Given the description of an element on the screen output the (x, y) to click on. 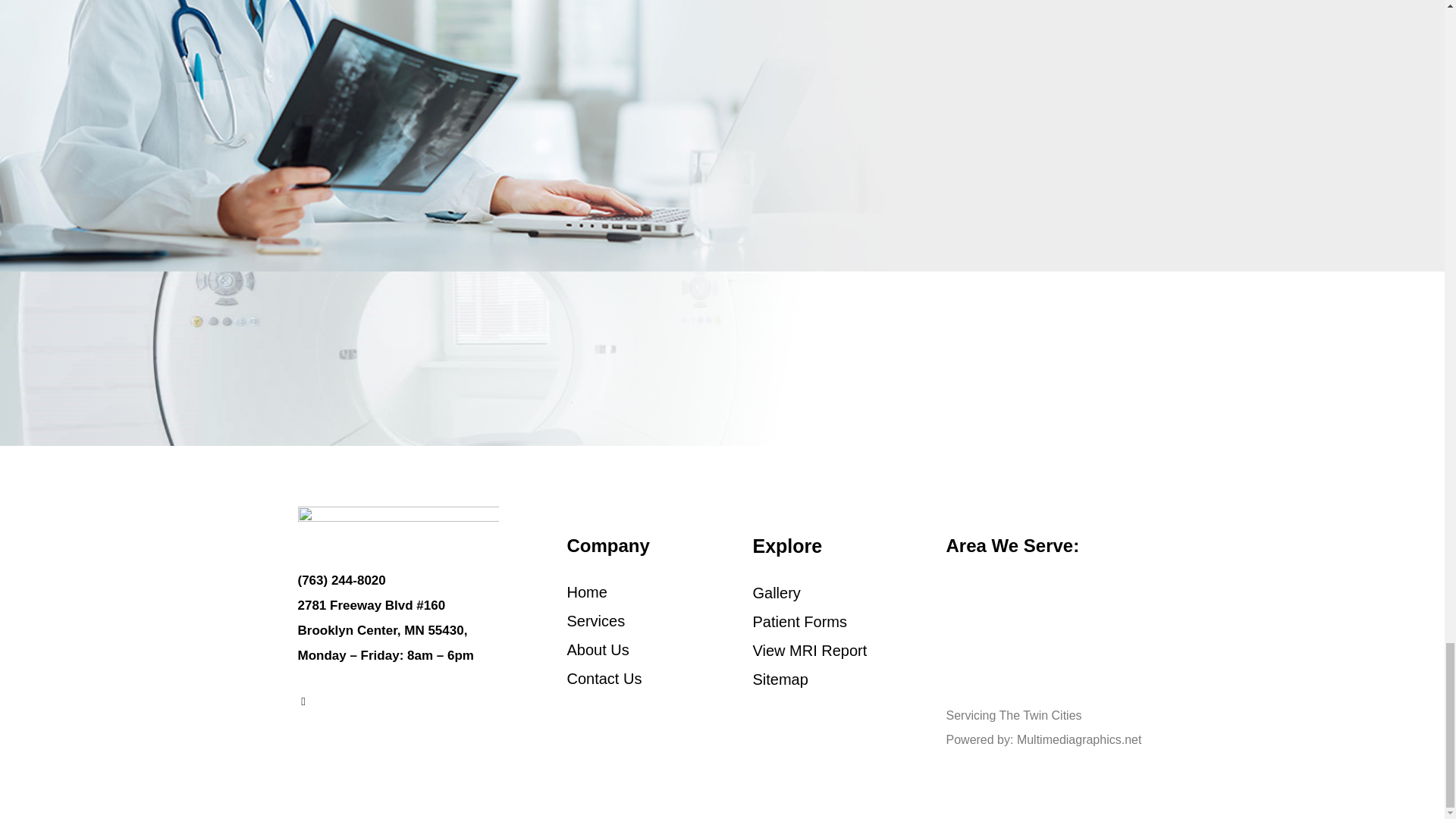
Twin Cities, Minnesota (1046, 641)
